Given the description of an element on the screen output the (x, y) to click on. 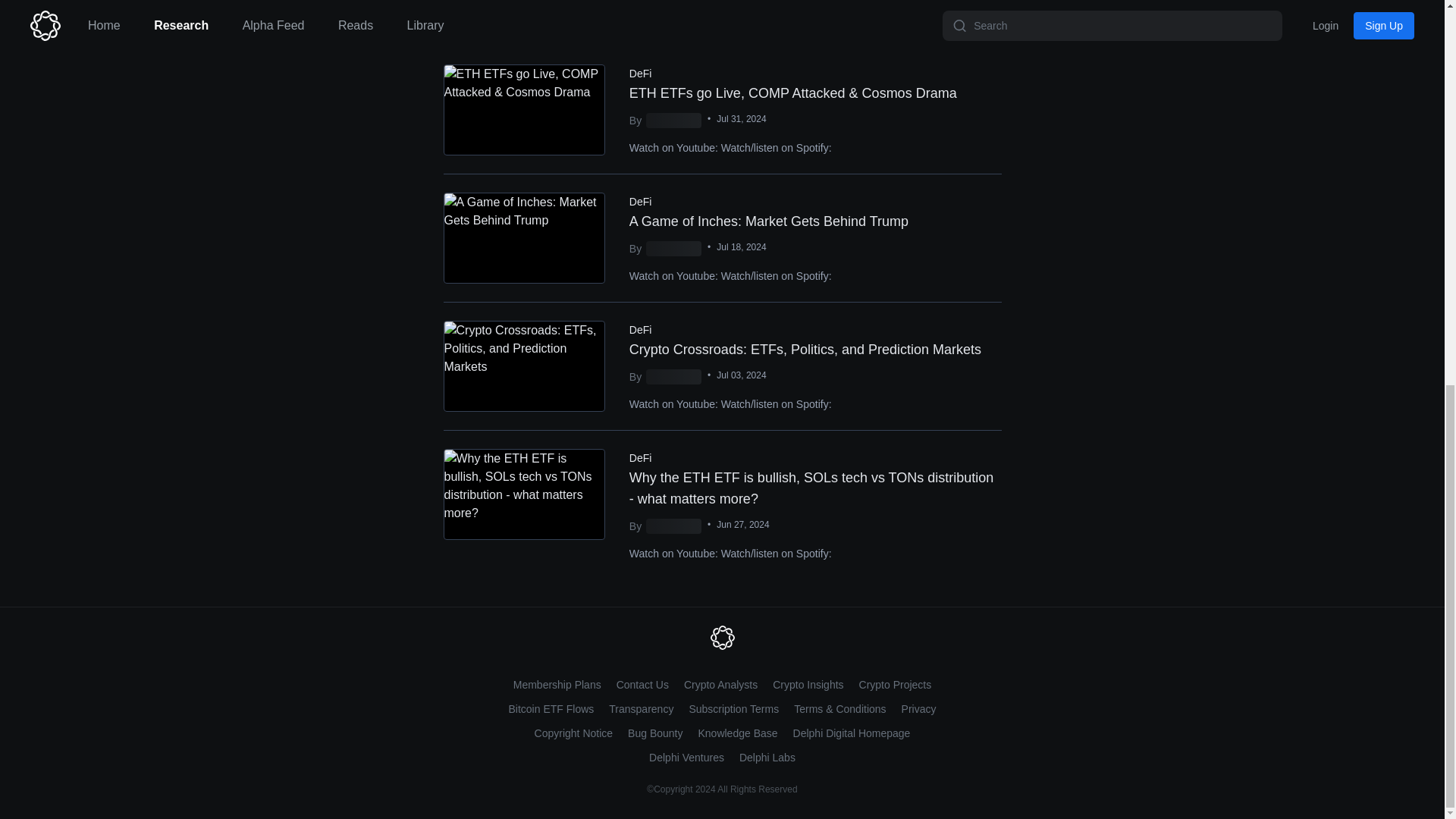
DeFi (640, 458)
DeFi (640, 73)
Crypto Crossroads: ETFs, Politics, and Prediction Markets (814, 349)
DeFi (640, 329)
DeFi (640, 201)
A Game of Inches: Market Gets Behind Trump (814, 220)
